Given the description of an element on the screen output the (x, y) to click on. 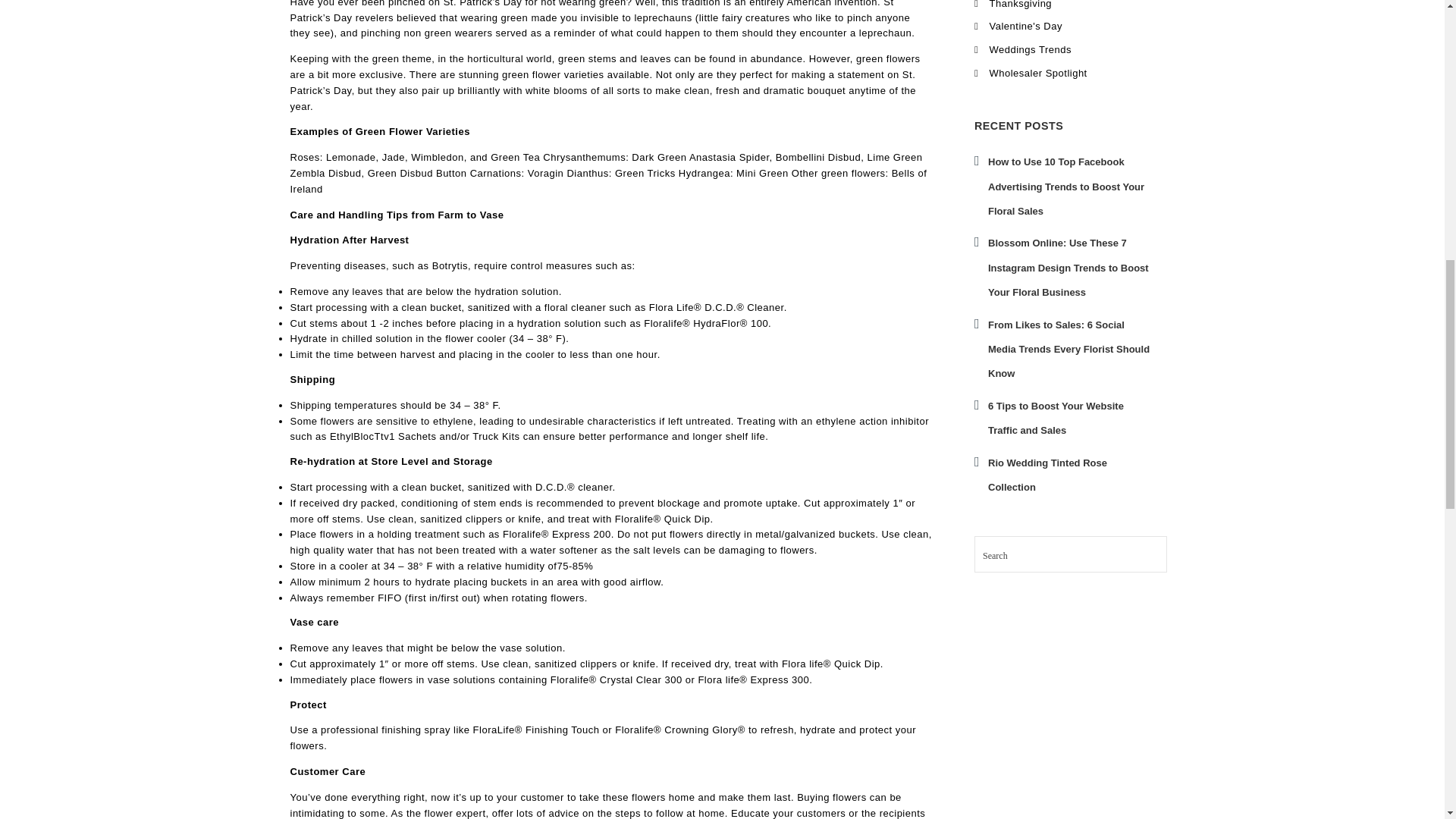
Search (1152, 551)
